Given the description of an element on the screen output the (x, y) to click on. 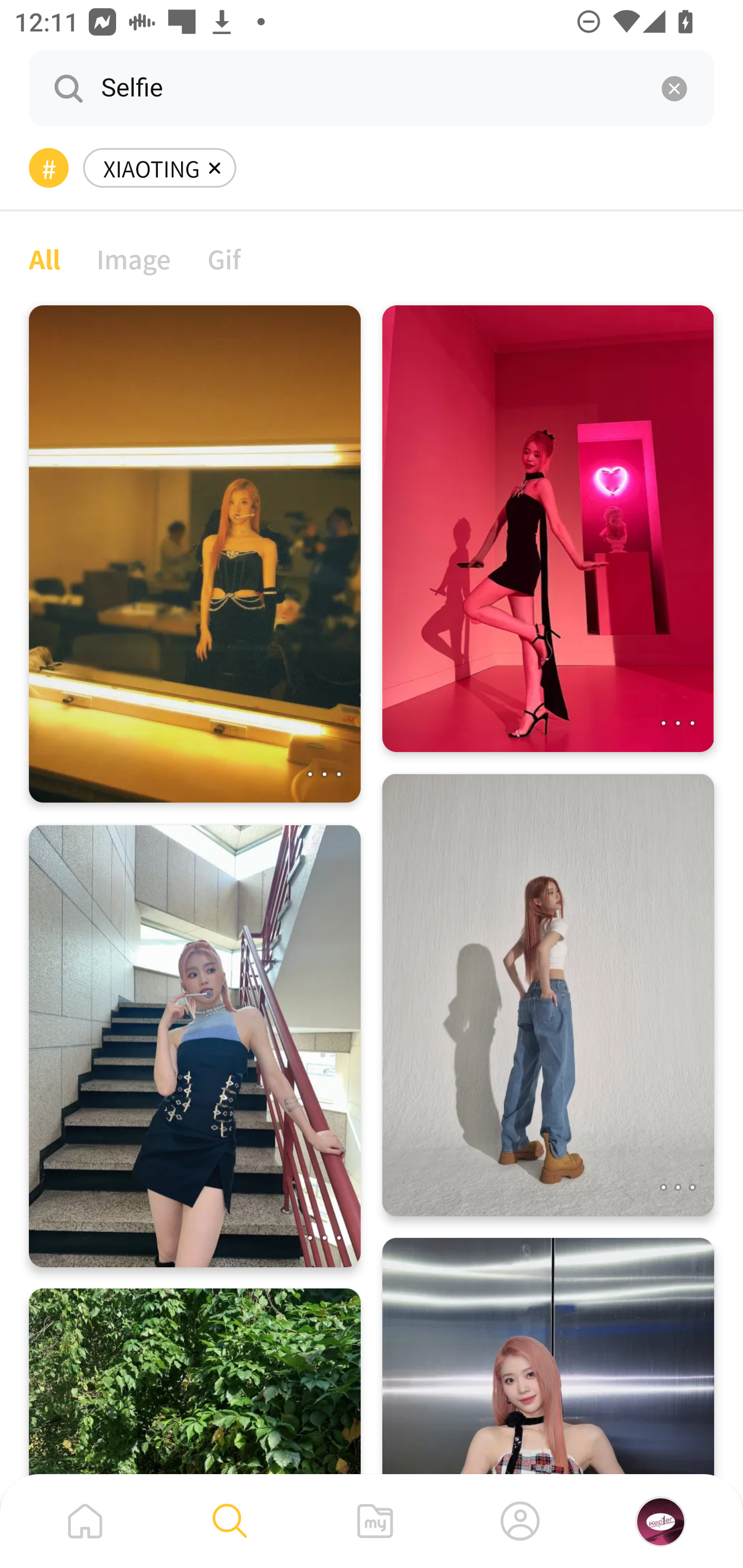
All (44, 257)
Image (133, 257)
Gif (223, 257)
